Given the description of an element on the screen output the (x, y) to click on. 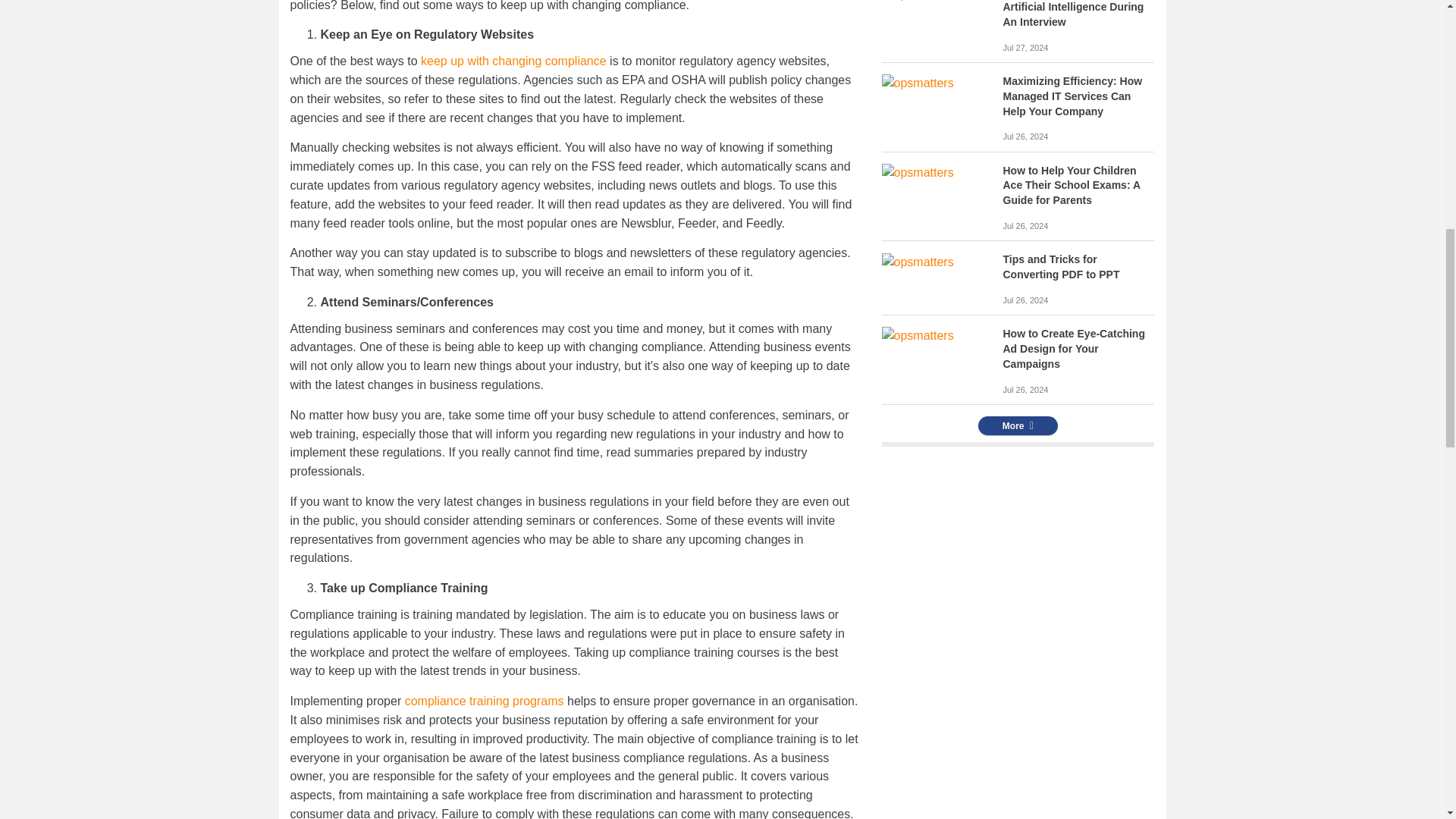
opsmatters (916, 262)
opsmatters (916, 2)
opsmatters (916, 83)
opsmatters (916, 172)
opsmatters (916, 335)
